Given the description of an element on the screen output the (x, y) to click on. 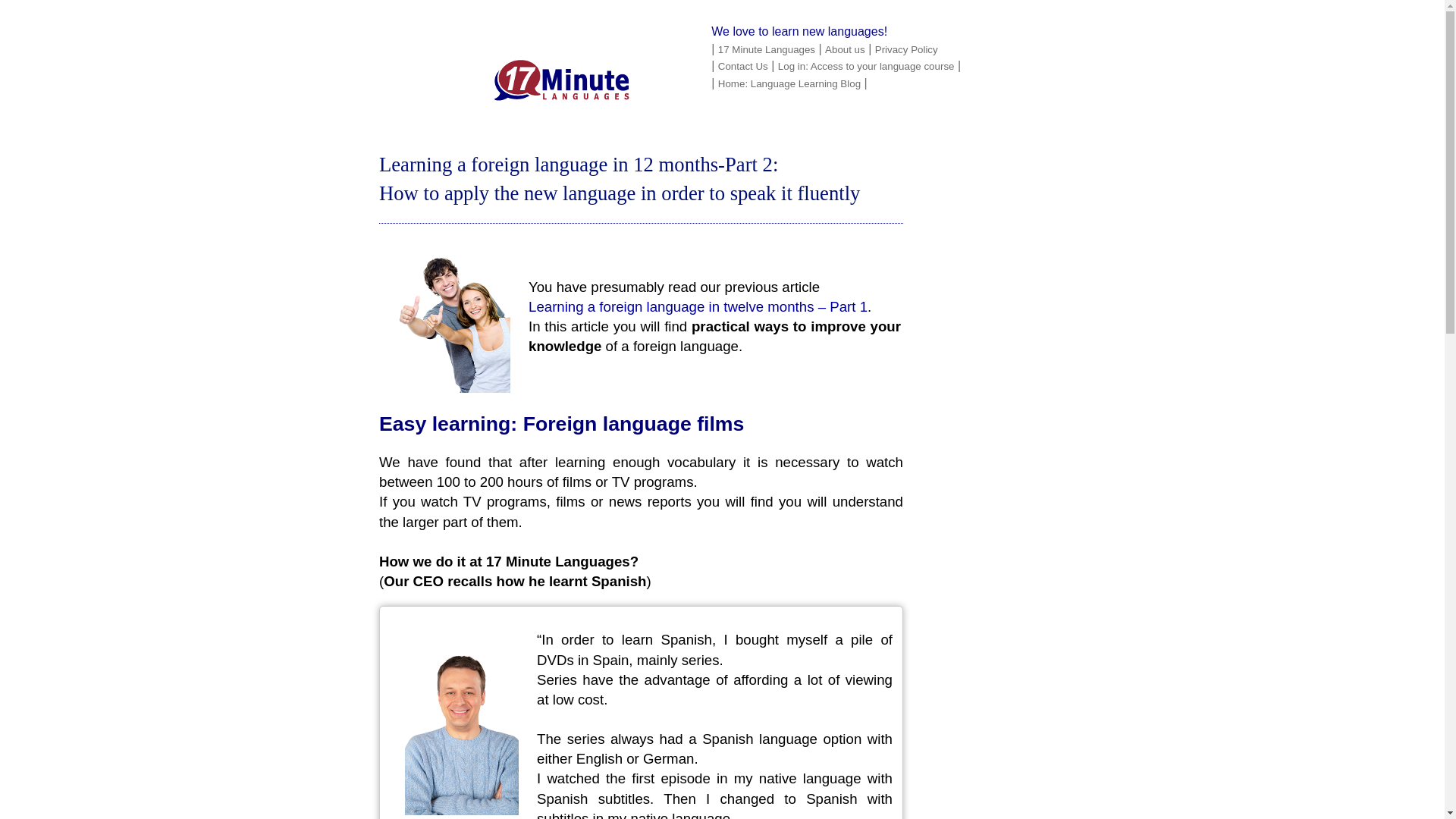
Privacy Policy (906, 49)
Contact Us (742, 66)
Log in: Access to your language course (866, 66)
17 Minute Languages (766, 49)
About us (844, 49)
Home: Language Learning Blog (788, 83)
